Given the description of an element on the screen output the (x, y) to click on. 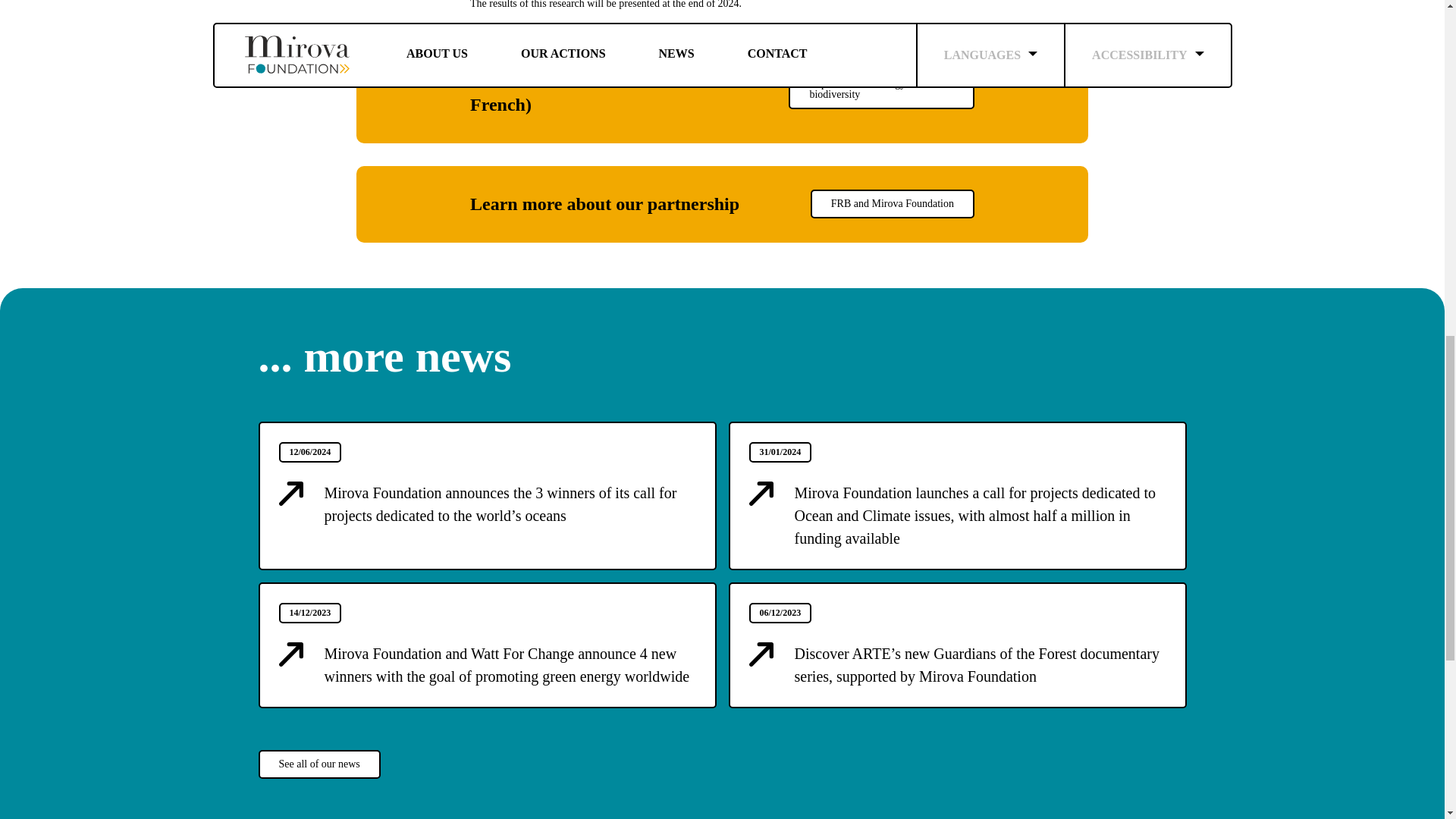
Impact of wind energy on biodiversity (881, 88)
See all of our news (318, 764)
FRB and Mirova Foundation (892, 203)
